Given the description of an element on the screen output the (x, y) to click on. 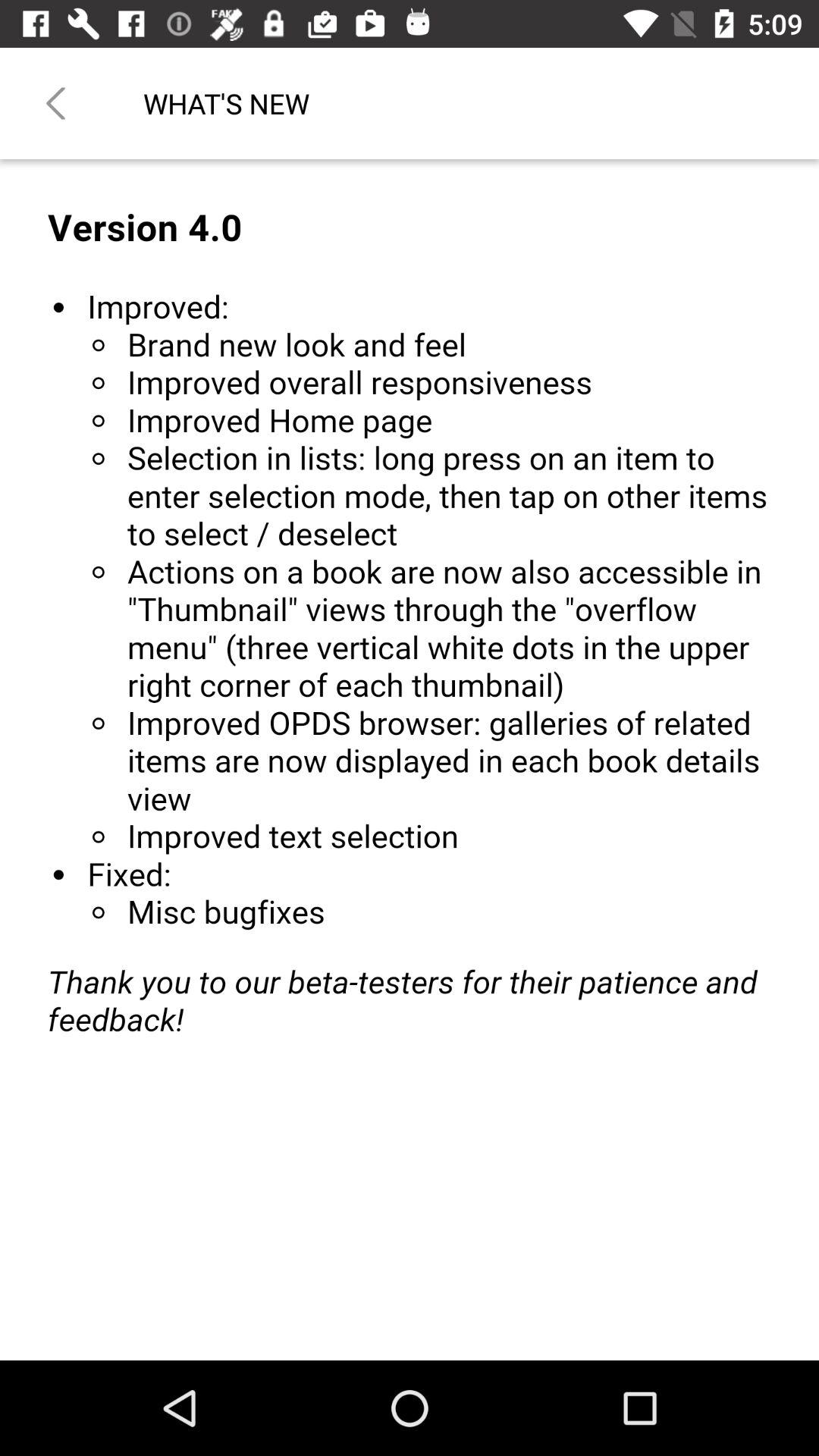
turn off the icon next to the what's new icon (55, 103)
